Given the description of an element on the screen output the (x, y) to click on. 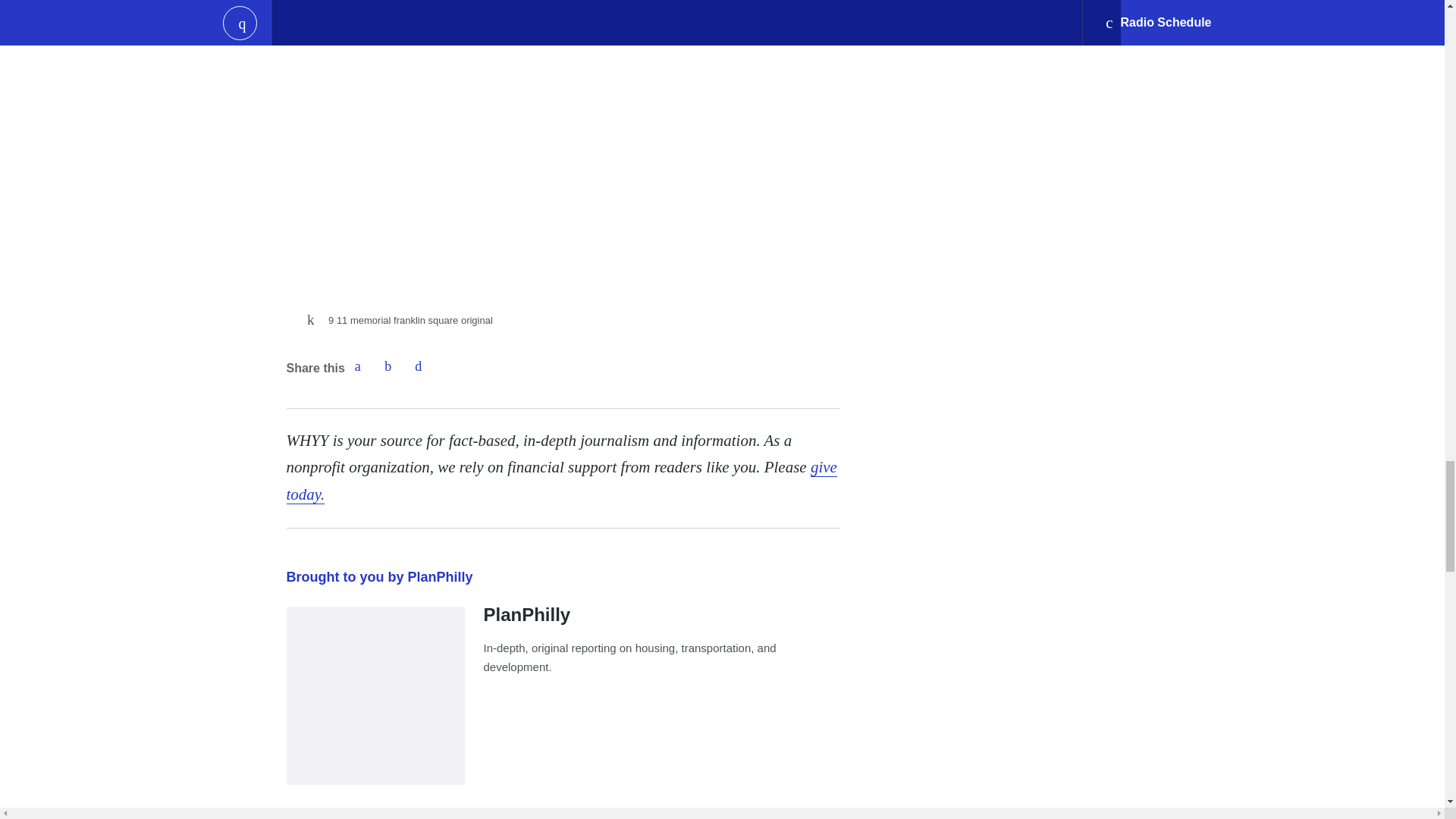
Twitter (387, 366)
Email (418, 366)
Facebook (357, 366)
